Given the description of an element on the screen output the (x, y) to click on. 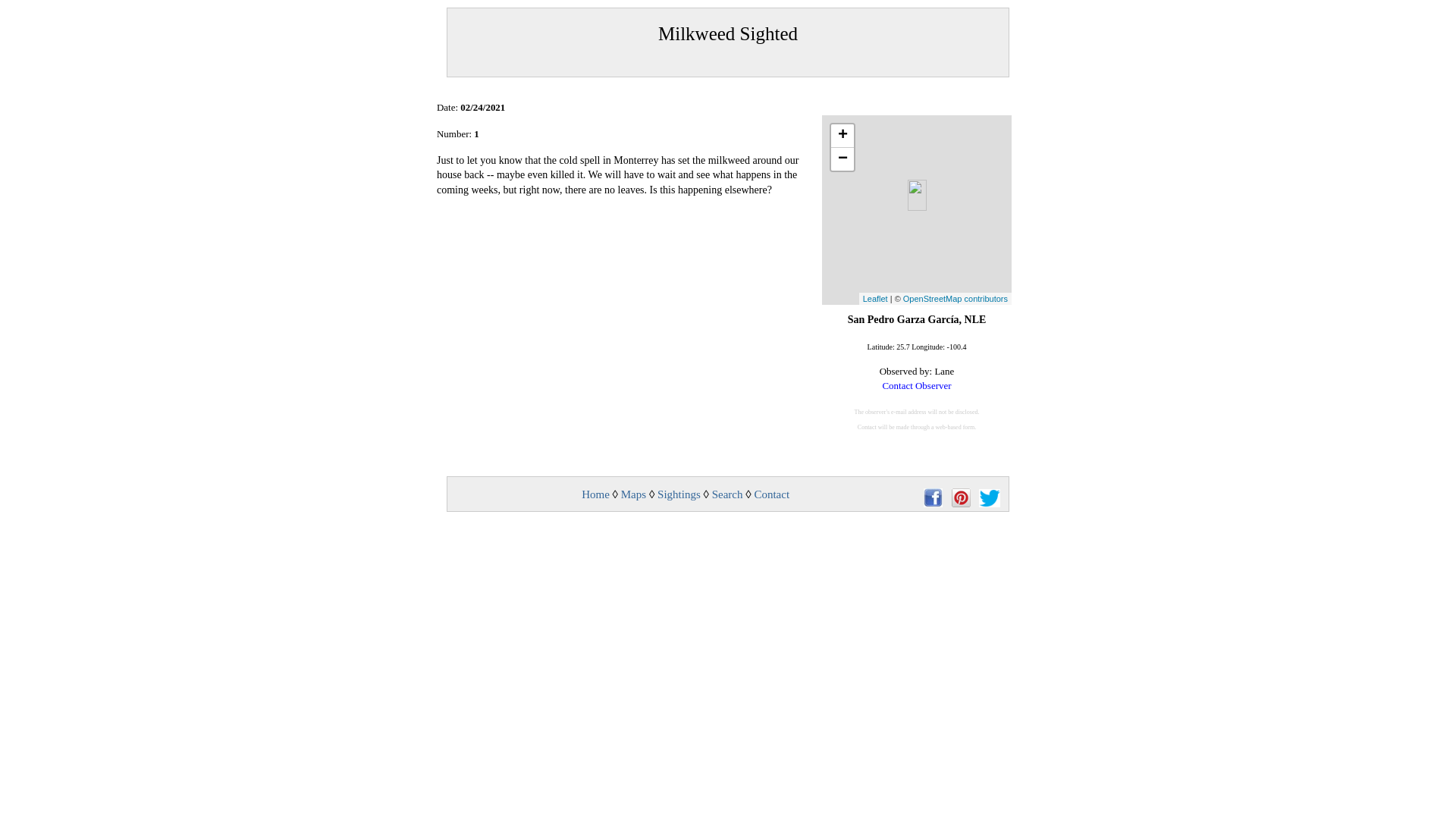
Search (726, 494)
Milkweed Sighted (727, 41)
OpenStreetMap contributors (954, 298)
Zoom out (842, 159)
A JS library for interactive maps (875, 298)
Zoom in (842, 136)
Home (595, 494)
Sightings (679, 494)
Contact Observer (916, 385)
Maps (633, 494)
